Given the description of an element on the screen output the (x, y) to click on. 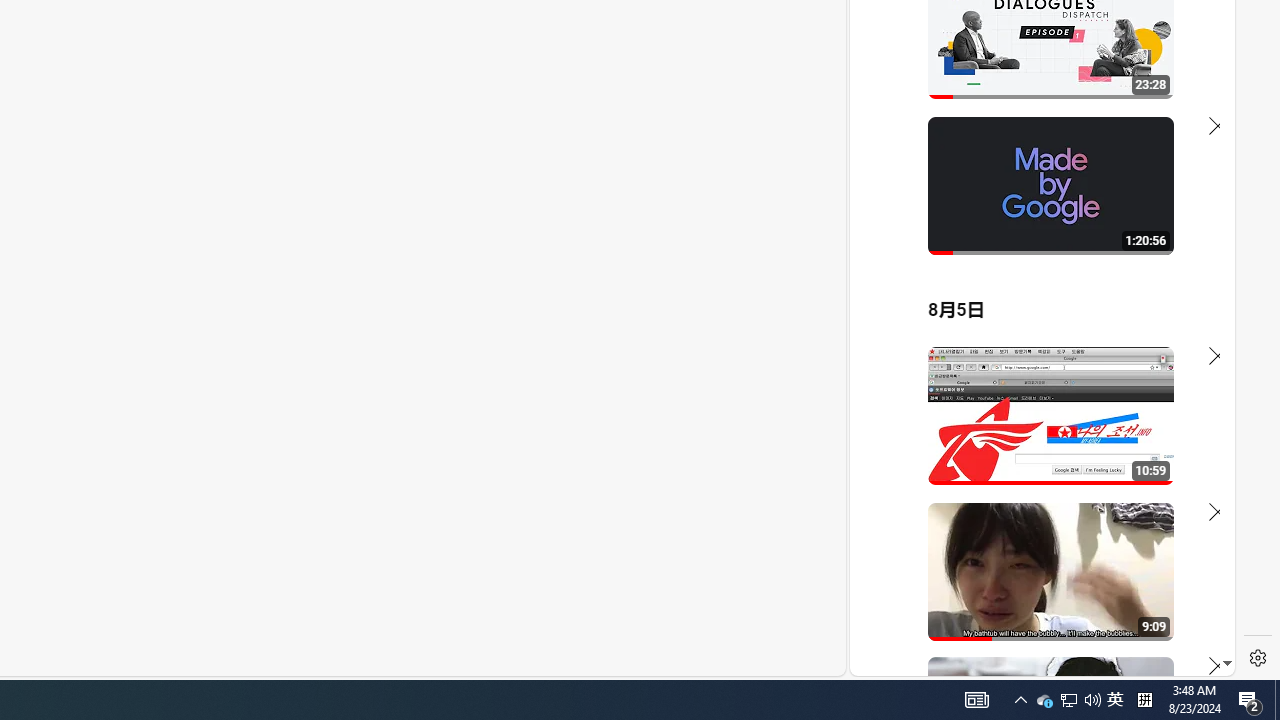
you (1034, 609)
YouTube (1034, 432)
Global web icon (888, 432)
Actions for this site (1131, 443)
#you (1034, 439)
Class: dict_pnIcon rms_img (1028, 660)
YouTube - YouTube (1034, 266)
US[ju] (917, 660)
Click to scroll right (1196, 83)
